Given the description of an element on the screen output the (x, y) to click on. 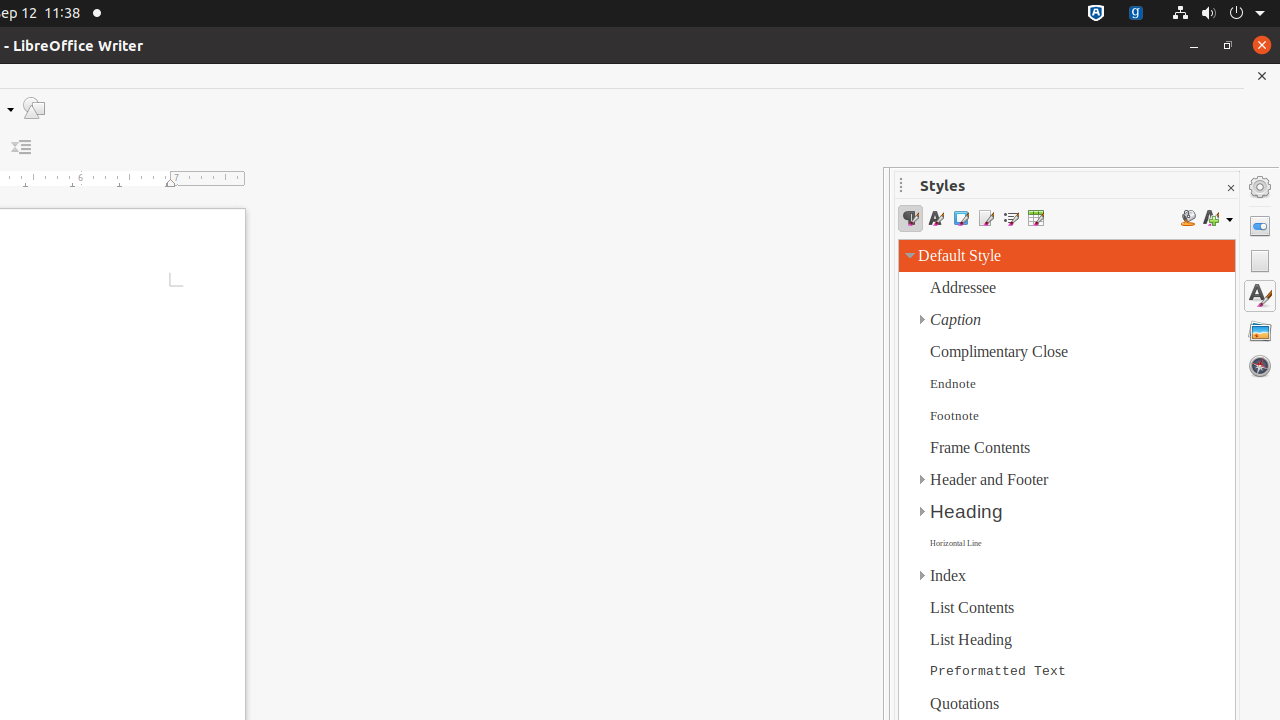
Frame Styles Element type: push-button (960, 218)
Decrease Element type: push-button (21, 147)
Paragraph Styles Element type: push-button (910, 218)
Draw Functions Element type: push-button (33, 108)
Styles Element type: radio-button (1260, 296)
